Given the description of an element on the screen output the (x, y) to click on. 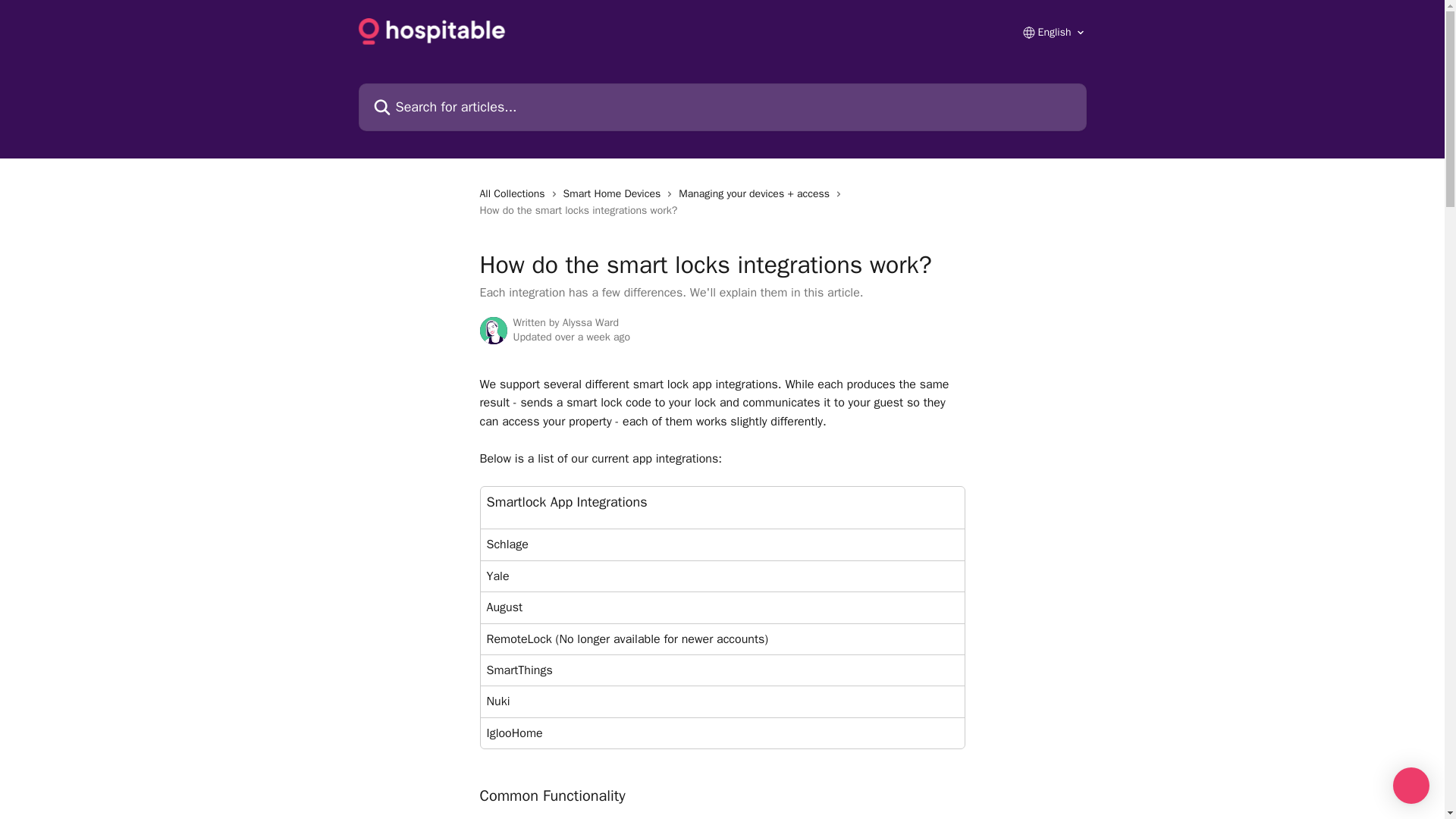
All Collections (514, 193)
Smart Home Devices (614, 193)
